Given the description of an element on the screen output the (x, y) to click on. 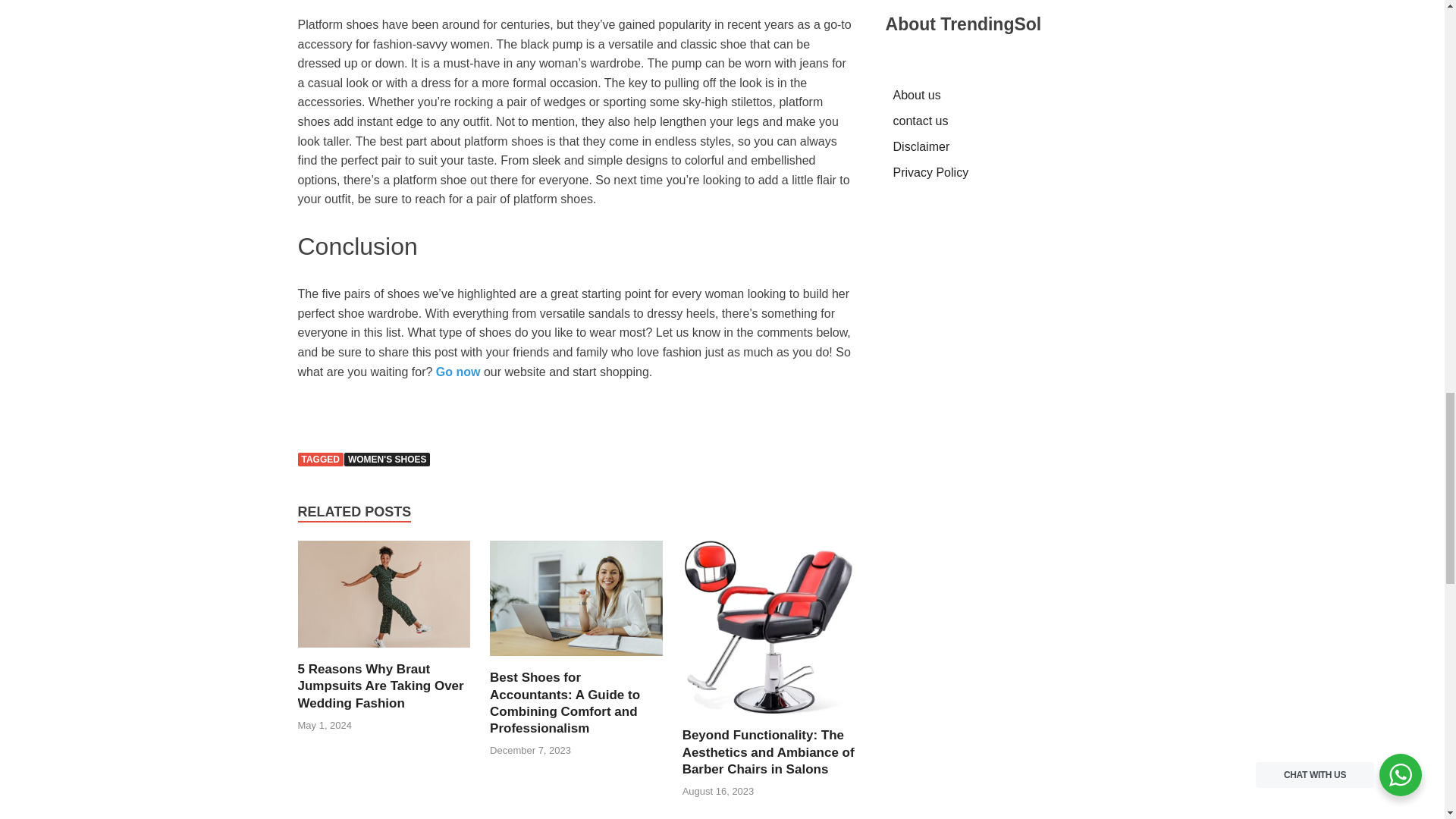
WOMEN'S SHOES (386, 459)
Go now (457, 371)
